Given the description of an element on the screen output the (x, y) to click on. 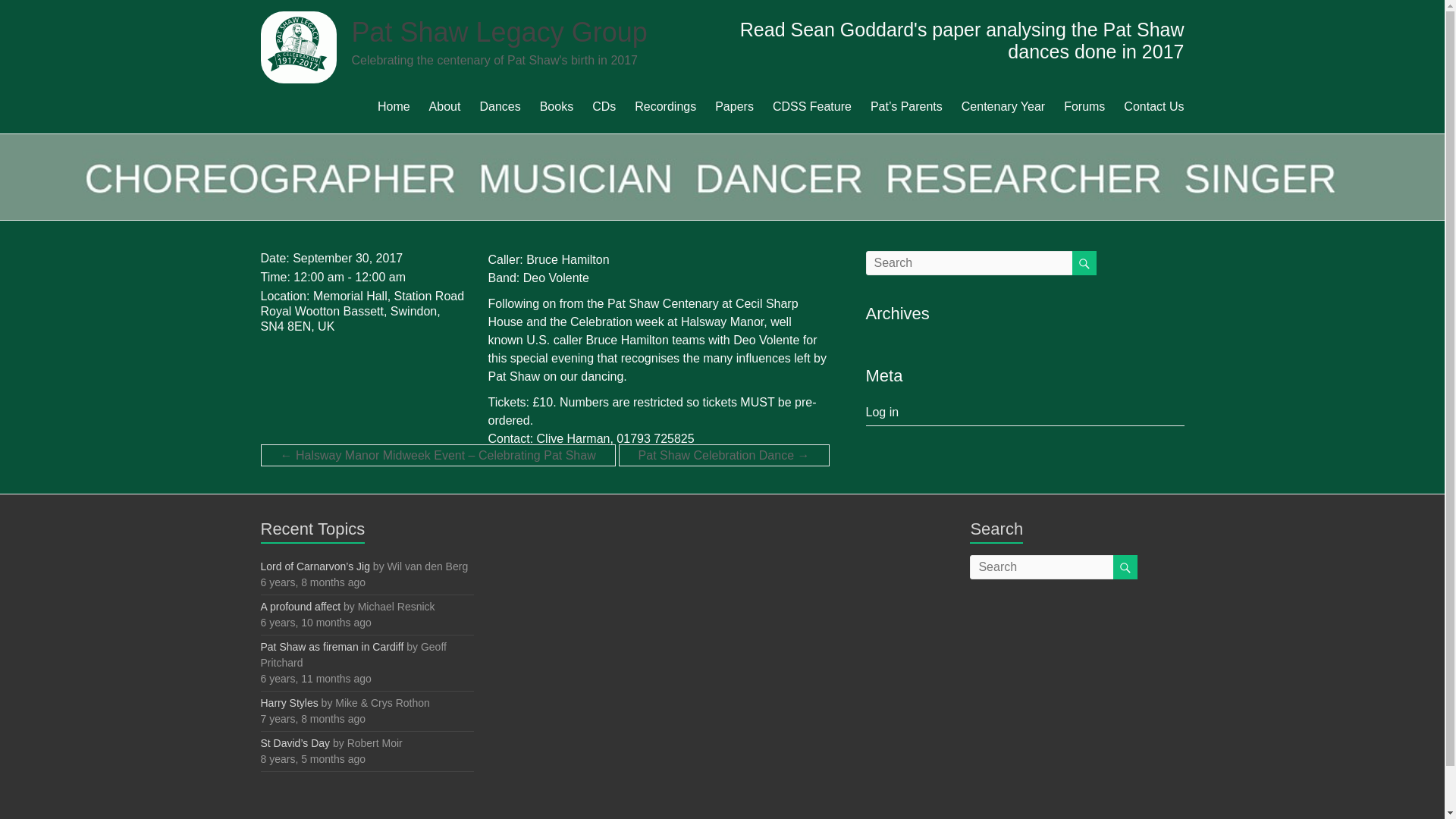
Books (556, 104)
Pat Shaw Legacy Group (499, 31)
Papers (734, 104)
Pat Shaw Legacy Group (499, 31)
Forums (1084, 104)
Home (393, 104)
CDSS Feature (812, 104)
About (445, 104)
Recordings (664, 104)
